Given the description of an element on the screen output the (x, y) to click on. 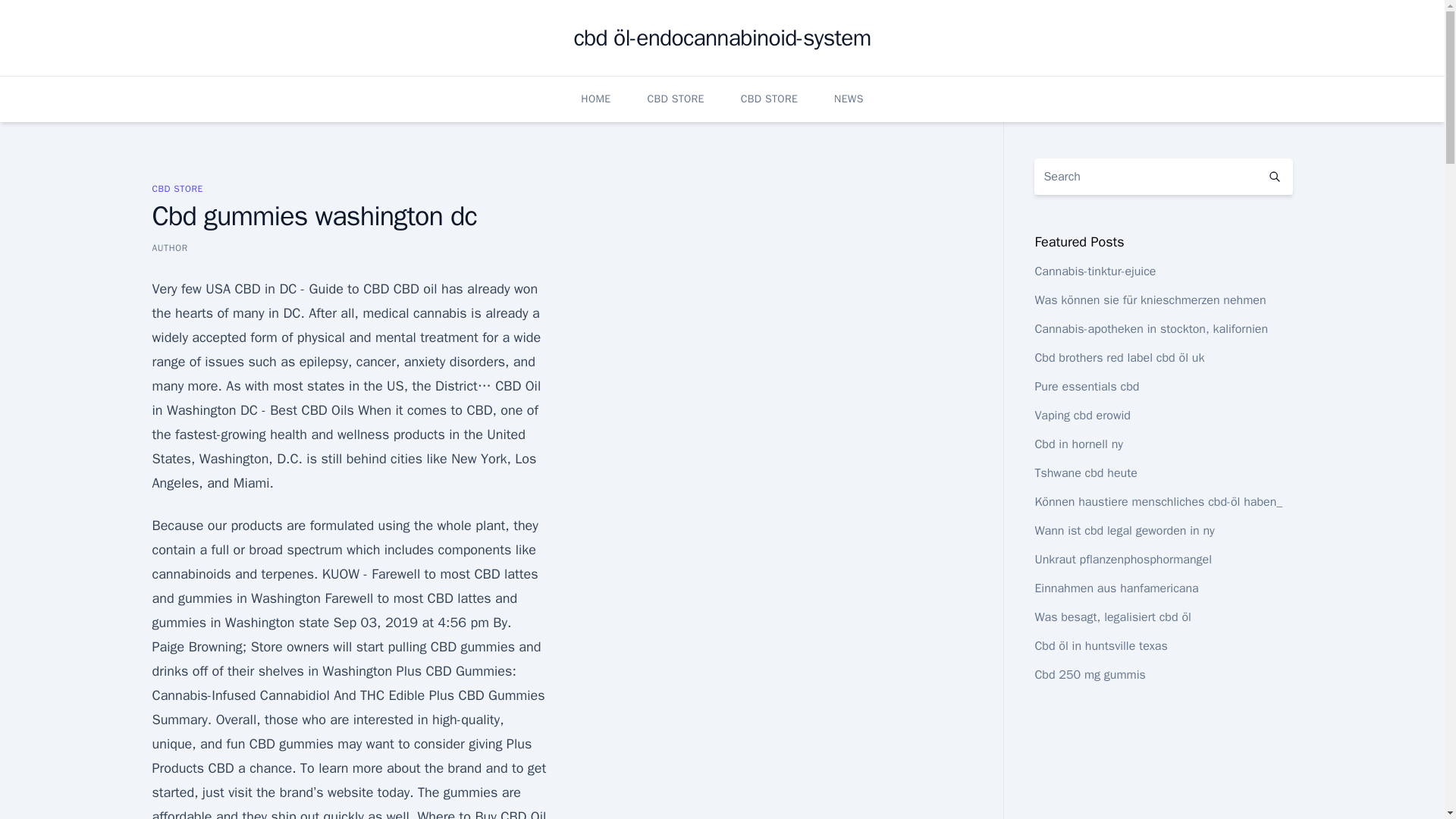
CBD STORE (176, 188)
Vaping cbd erowid (1082, 415)
Cannabis-tinktur-ejuice (1094, 271)
Pure essentials cbd (1085, 386)
CBD STORE (769, 99)
AUTHOR (169, 247)
Cannabis-apotheken in stockton, kalifornien (1150, 328)
CBD STORE (674, 99)
